Given the description of an element on the screen output the (x, y) to click on. 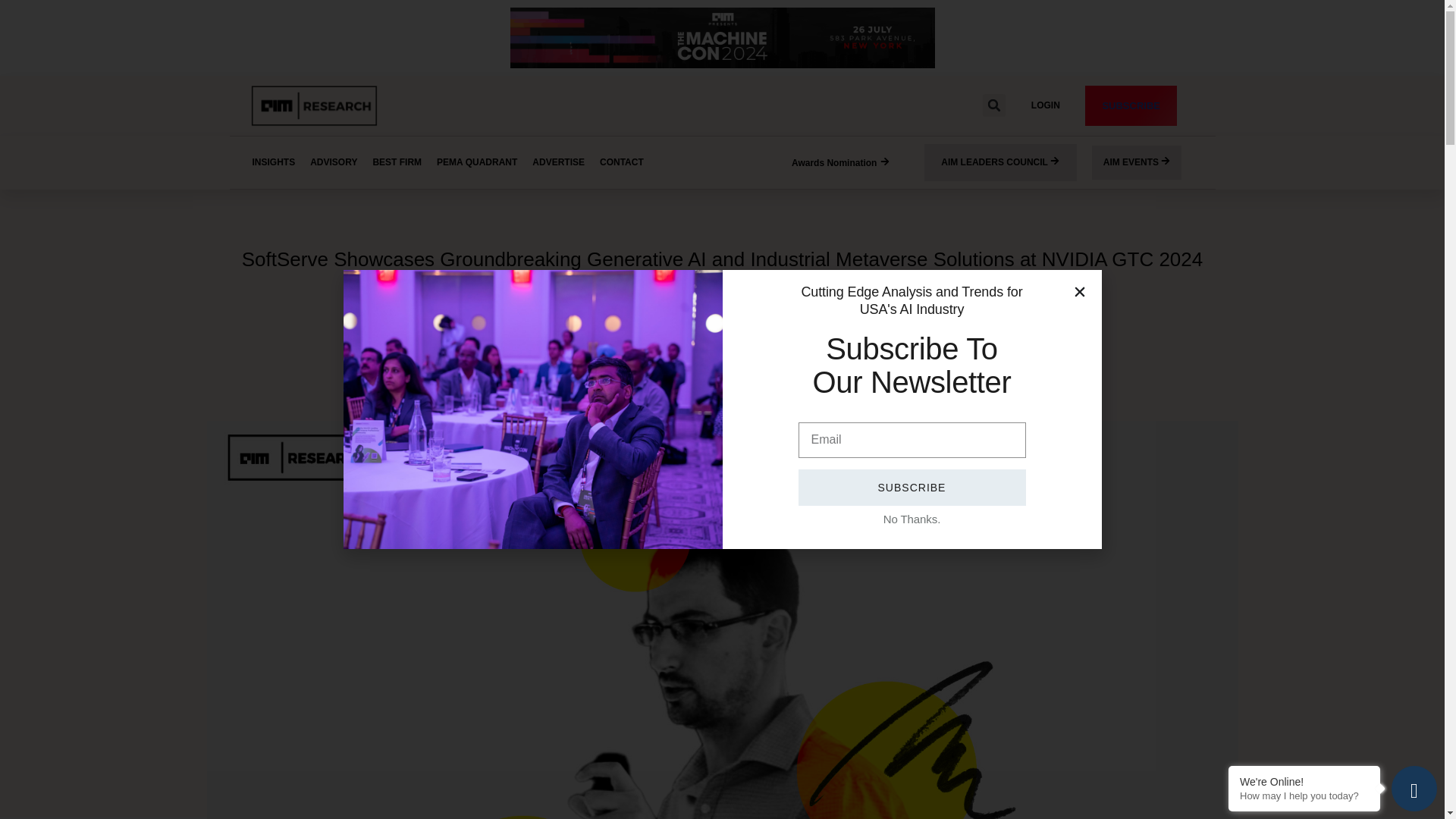
We're Online! (1304, 781)
INSIGHTS (272, 161)
ADVISORY (333, 161)
Awards Nomination (840, 163)
PEMA QUADRANT (477, 161)
BEST FIRM (396, 161)
By Anshika Mathews (638, 293)
How may I help you today? (1304, 795)
AIM LEADERS COUNCIL (1000, 162)
GENERATIVE AI (721, 326)
CONTACT (622, 161)
AIM EVENTS (1137, 162)
ADVERTISE (557, 161)
SUBSCRIBE (1130, 105)
LOGIN (1045, 105)
